Given the description of an element on the screen output the (x, y) to click on. 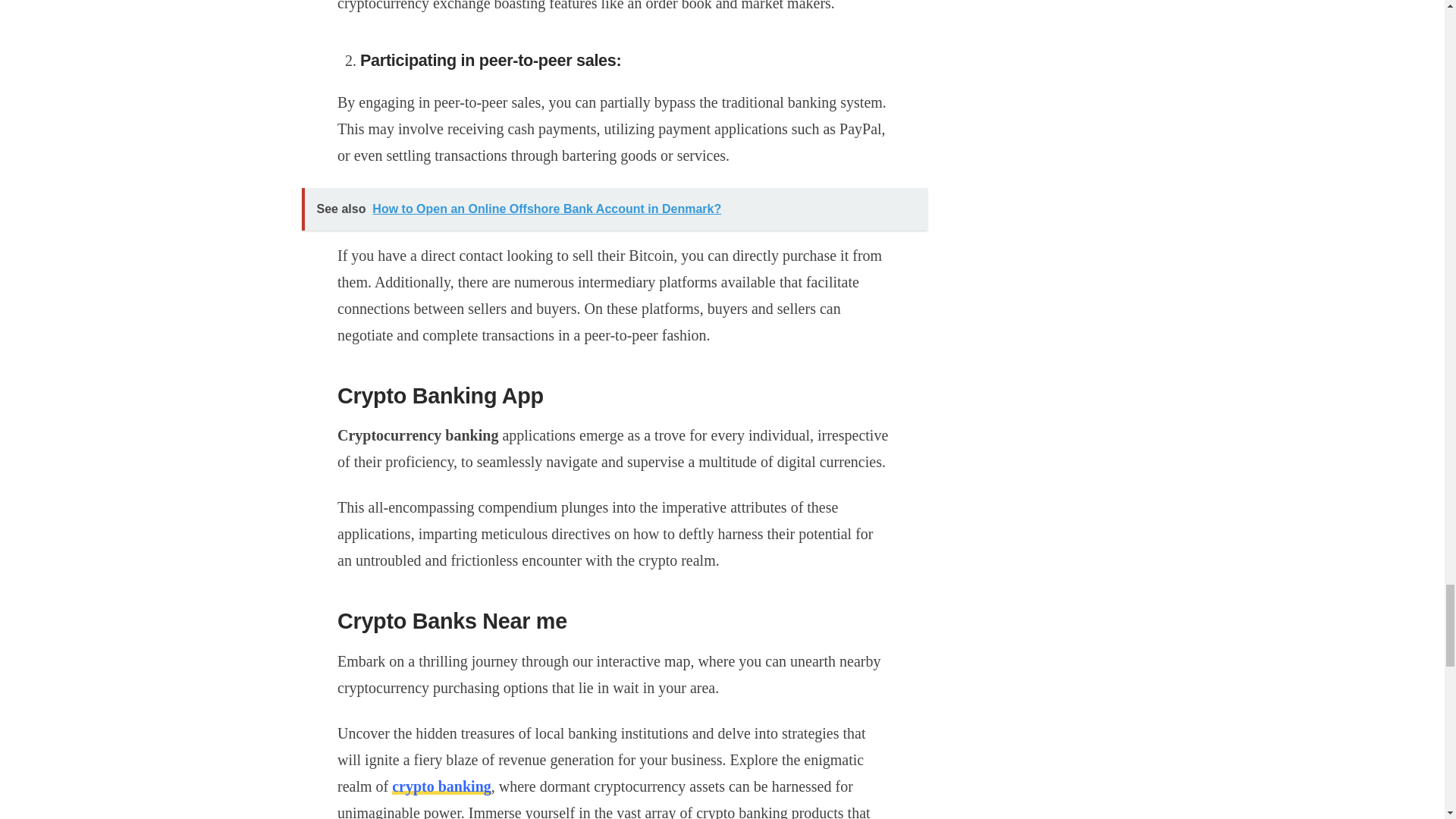
crypto banking (441, 786)
